Given the description of an element on the screen output the (x, y) to click on. 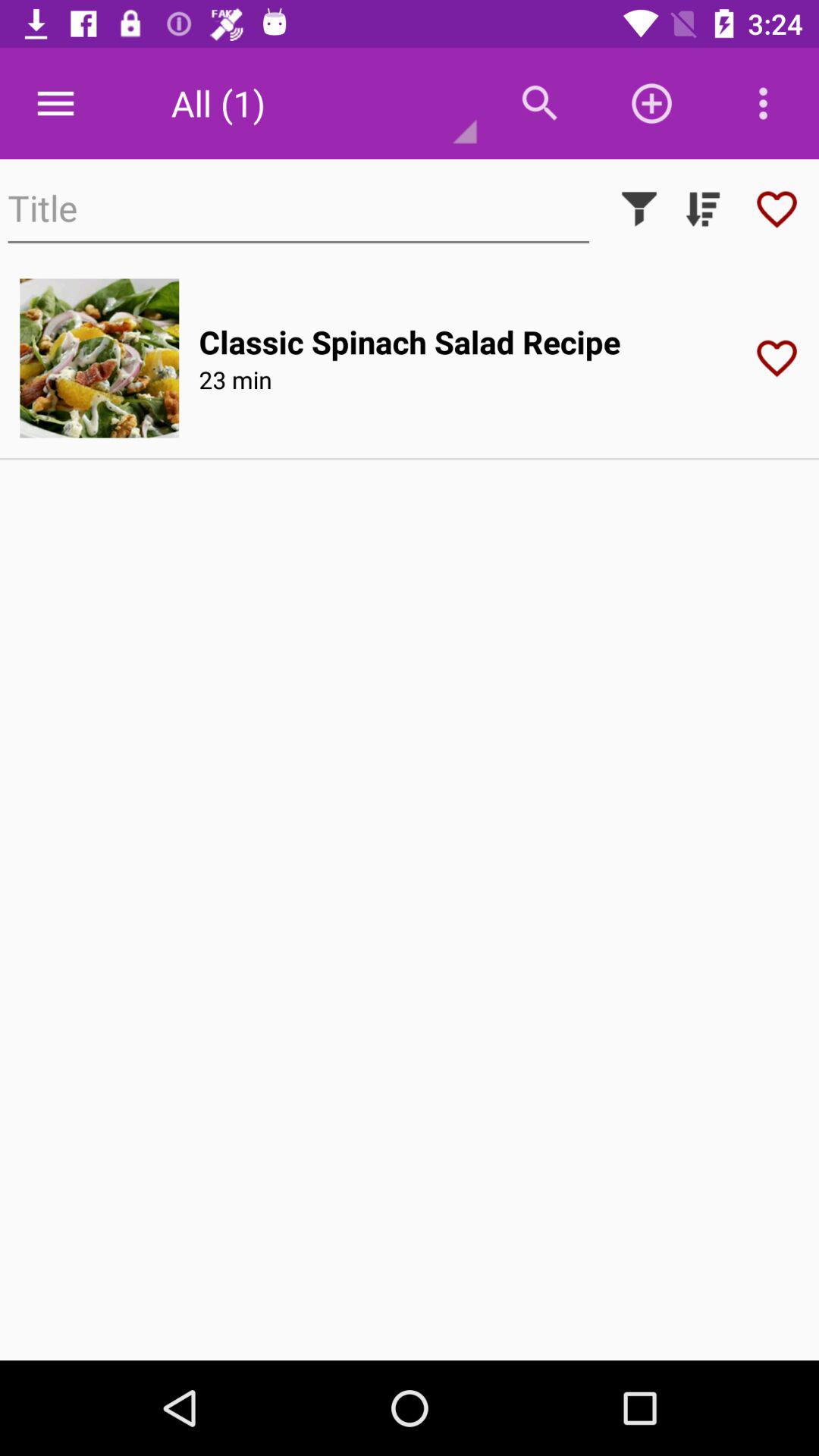
toggle selection filter (639, 208)
